Given the description of an element on the screen output the (x, y) to click on. 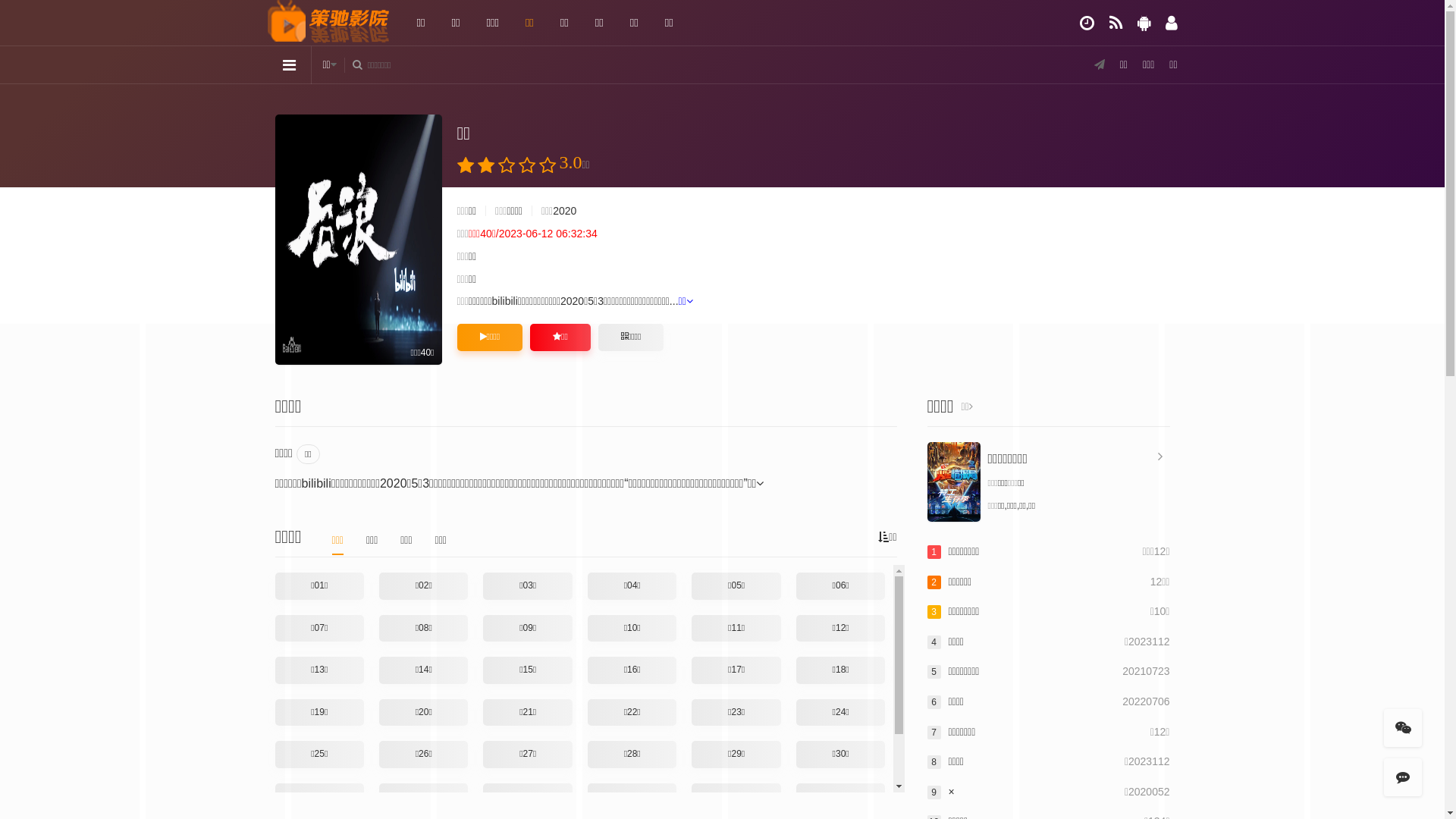
2020 Element type: text (564, 210)
